Given the description of an element on the screen output the (x, y) to click on. 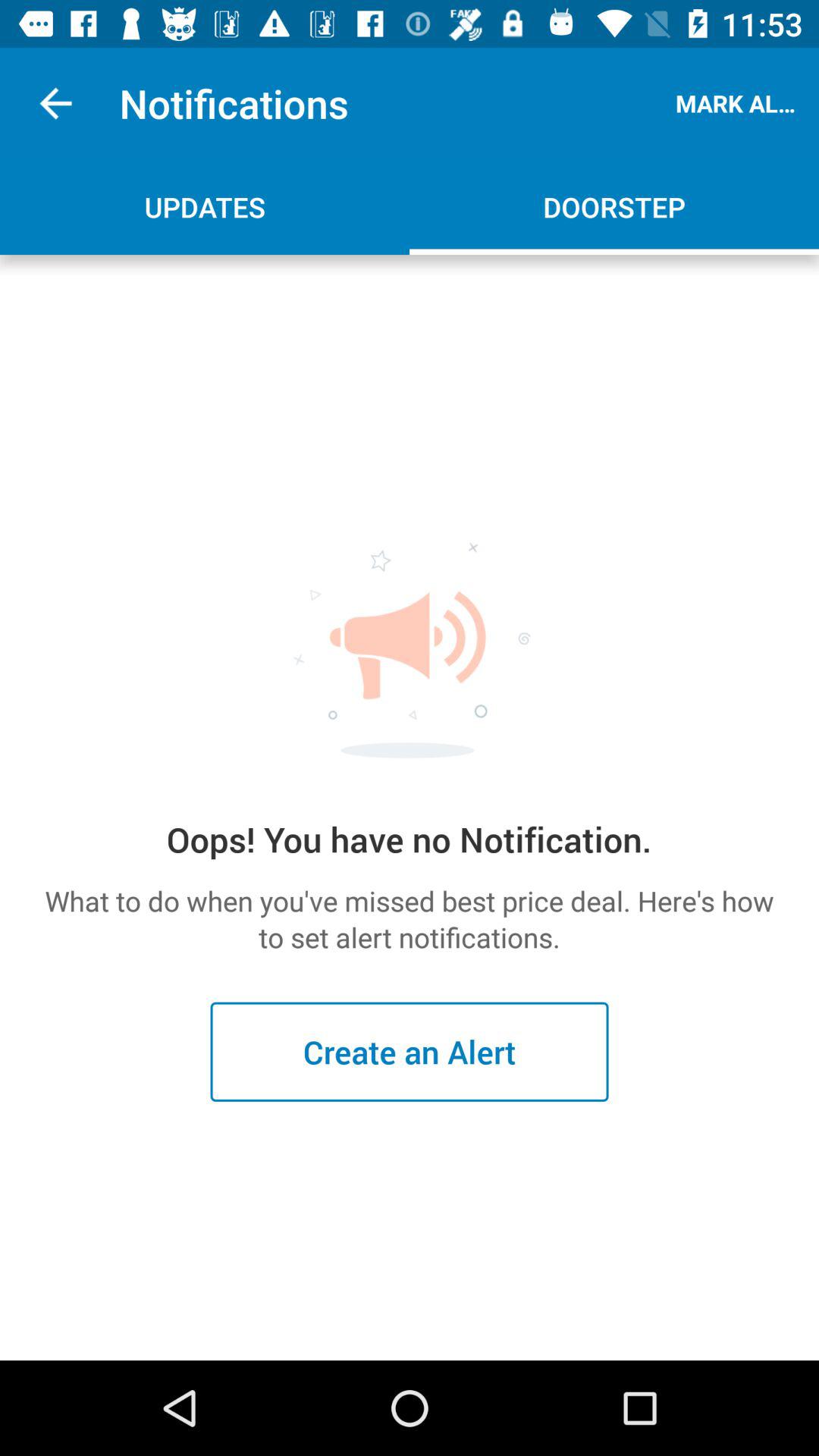
scroll until the updates item (204, 206)
